Given the description of an element on the screen output the (x, y) to click on. 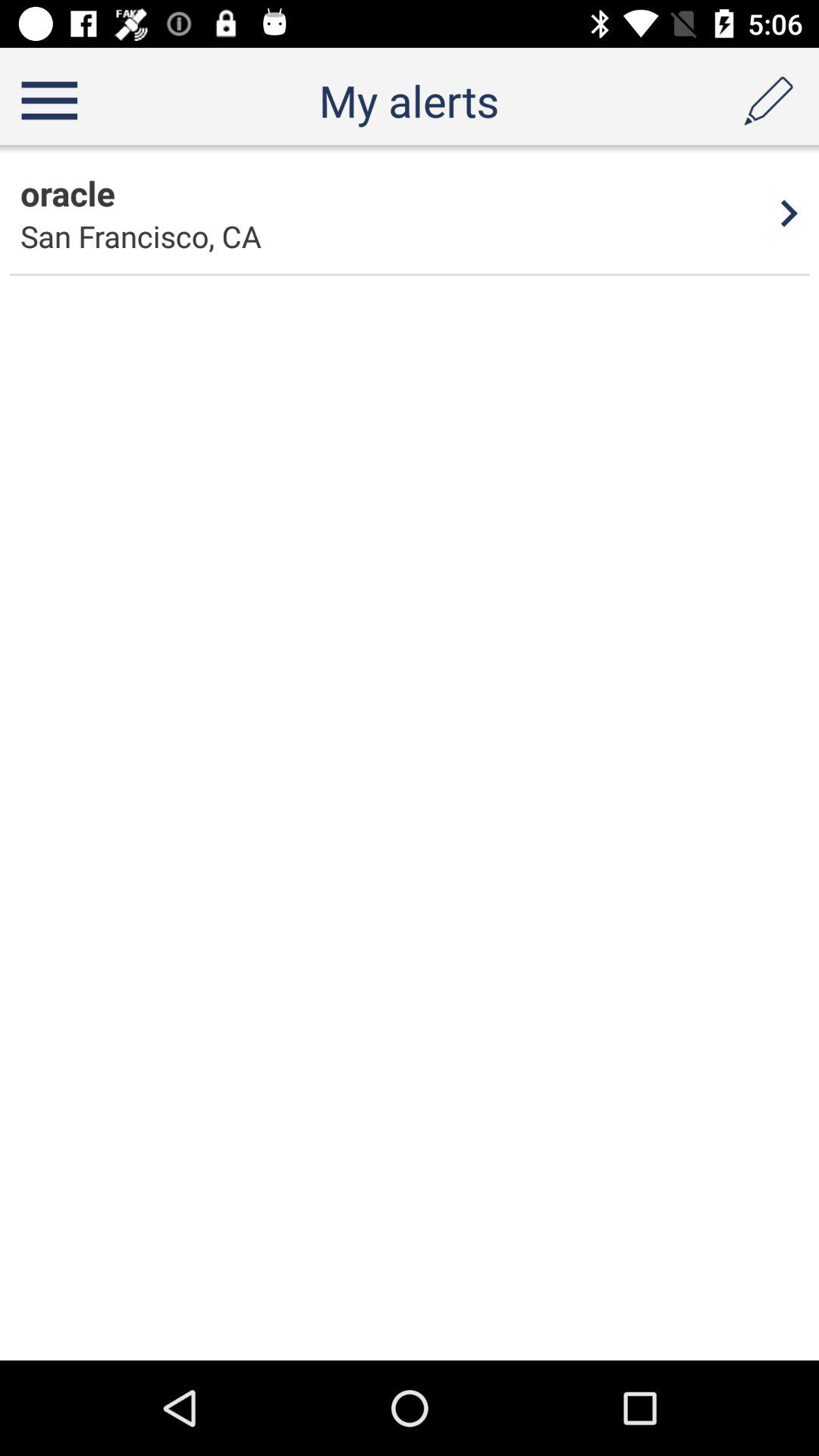
turn off app next to the 4 item (67, 193)
